Given the description of an element on the screen output the (x, y) to click on. 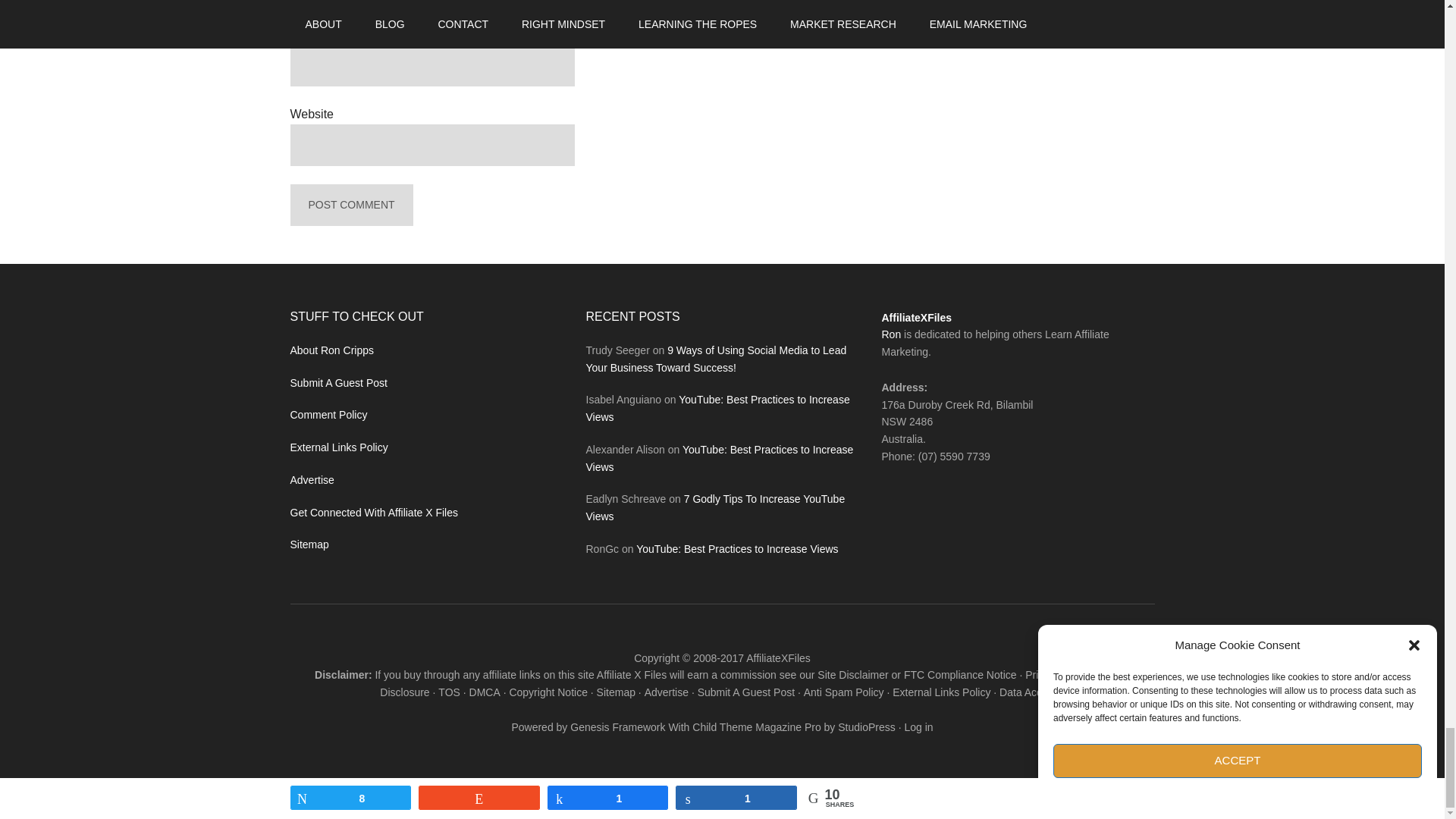
Post Comment (350, 205)
